Given the description of an element on the screen output the (x, y) to click on. 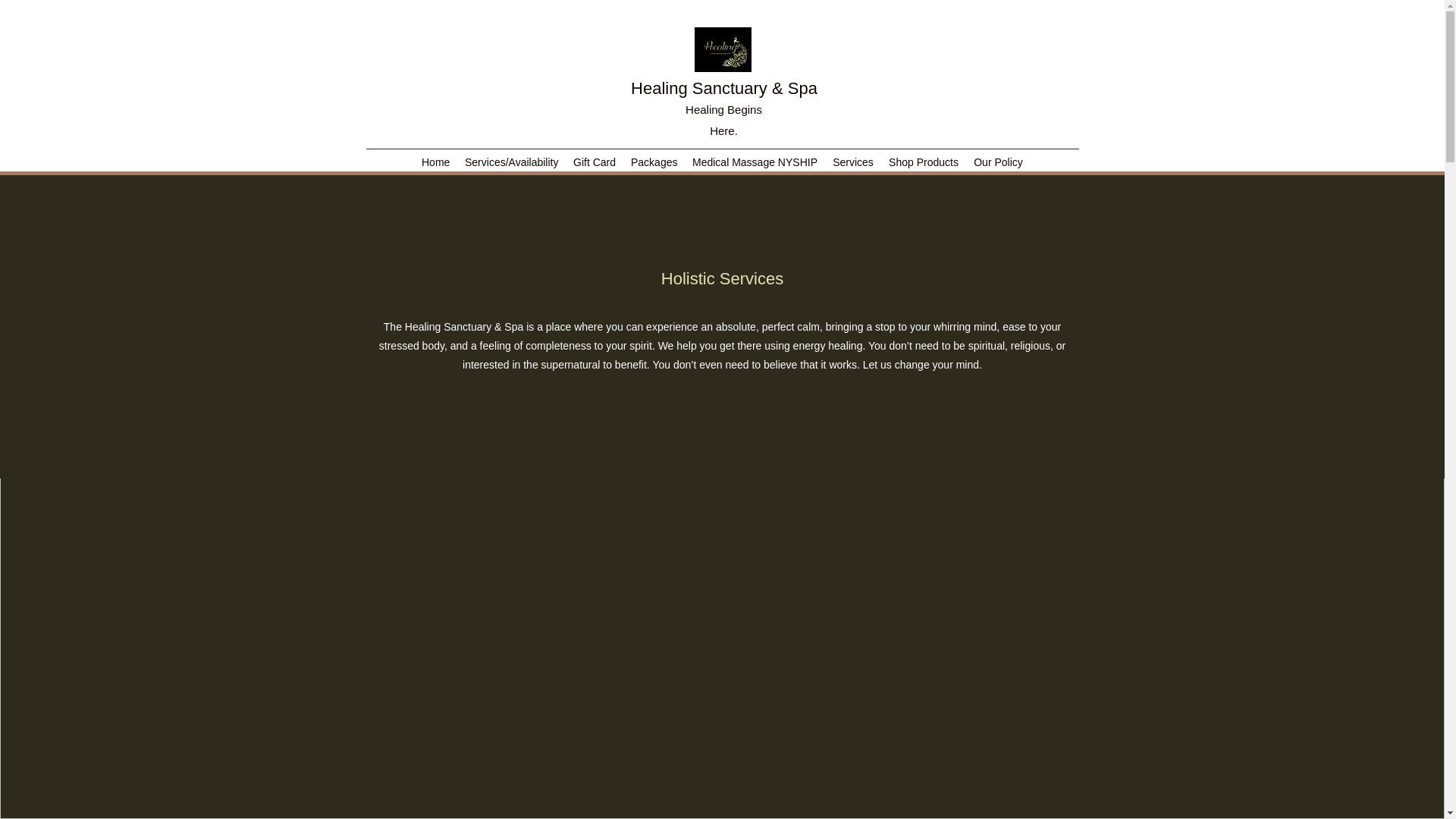
Home (435, 161)
Our Policy (998, 161)
Packages (653, 161)
Medical Massage NYSHIP (754, 161)
Gift Card (594, 161)
